Given the description of an element on the screen output the (x, y) to click on. 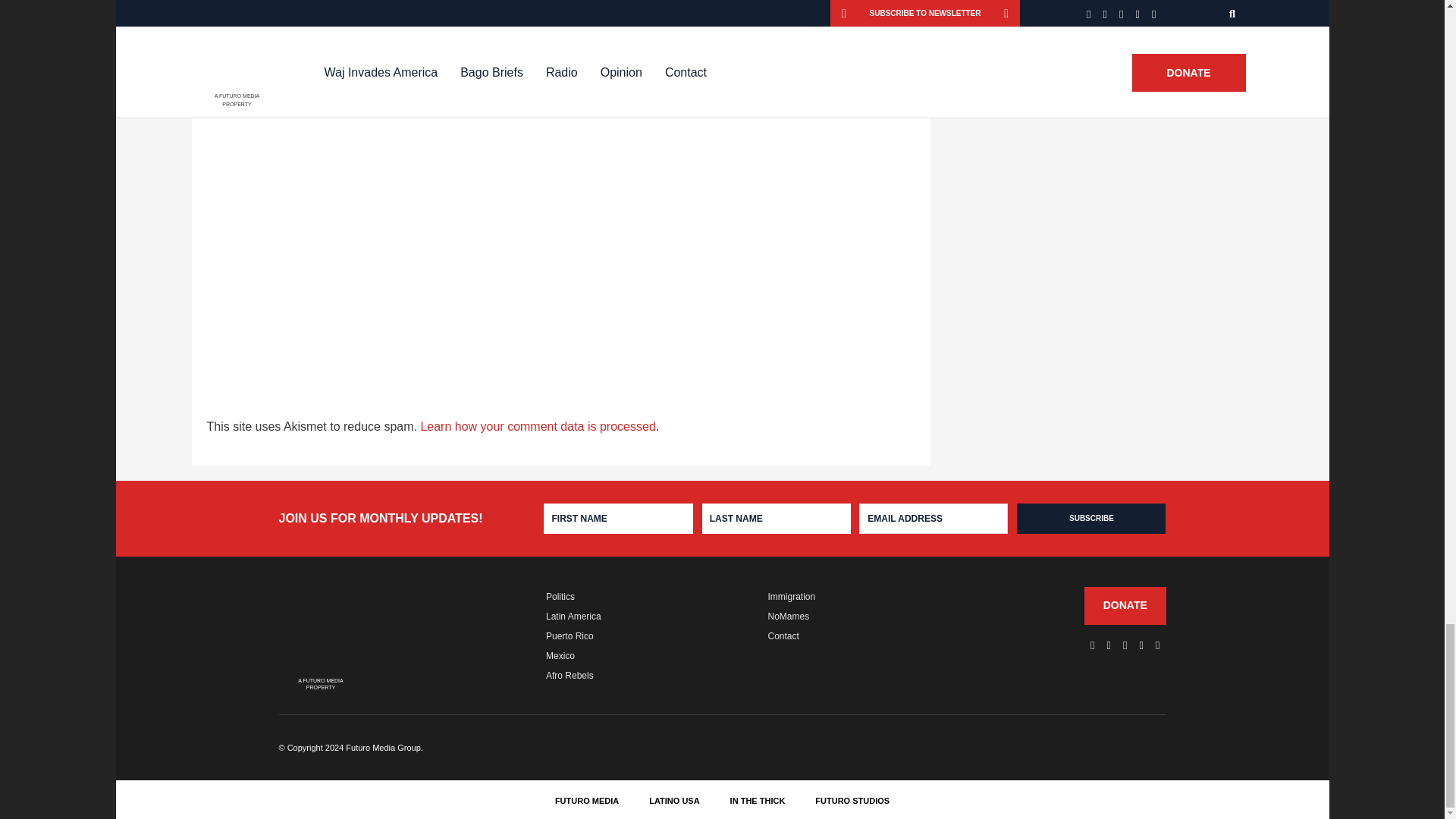
Subscribe (1091, 518)
